Given the description of an element on the screen output the (x, y) to click on. 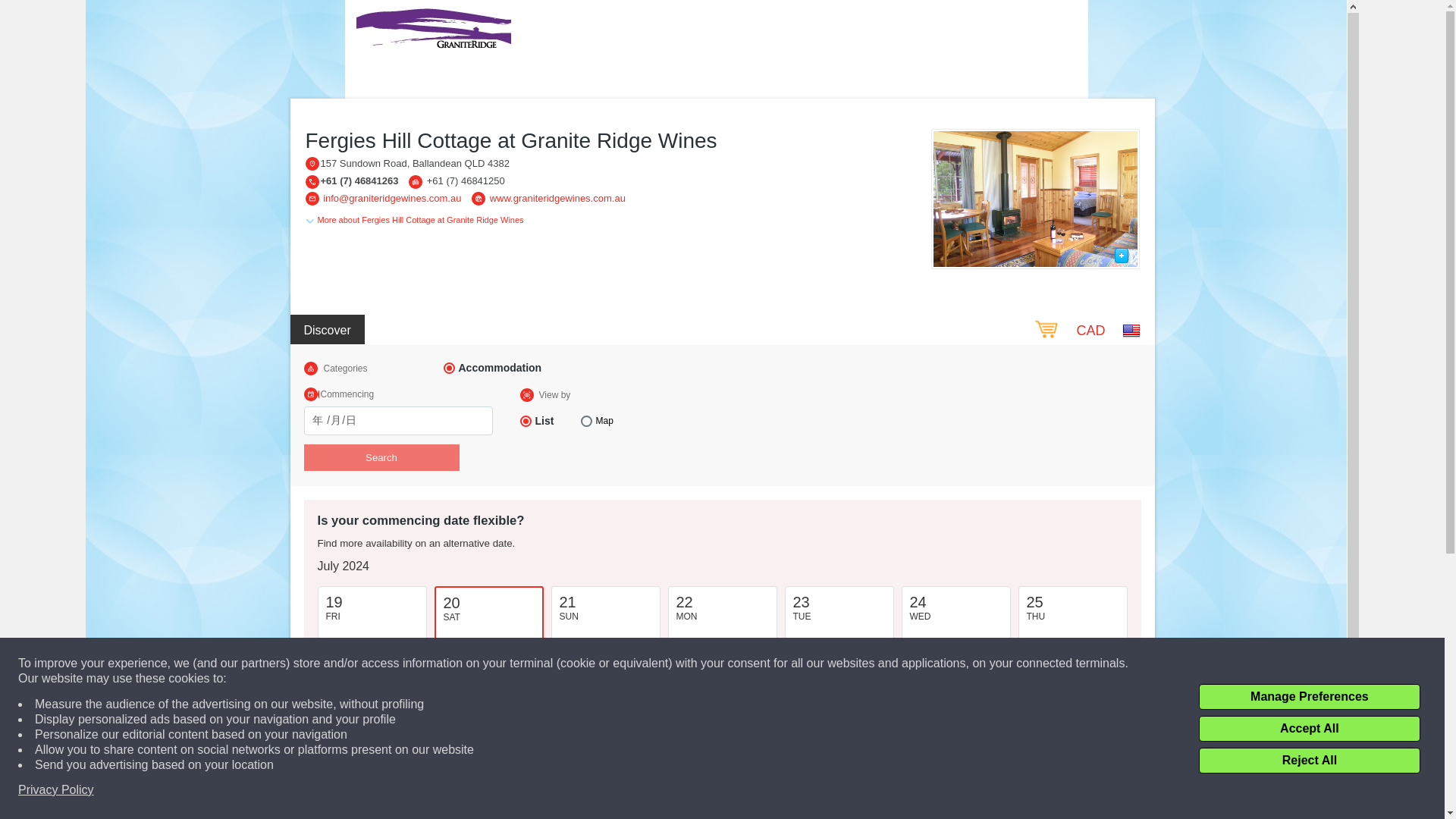
Fax (415, 182)
Email (311, 198)
Manage Preferences (1309, 696)
Reject All (1309, 760)
on (525, 420)
Privacy Policy (55, 789)
on (448, 367)
Accept All (1309, 728)
Address (311, 163)
Telephone (311, 182)
on (586, 420)
CAD (1090, 330)
www.graniteridgewines.com.au (557, 197)
Search (380, 457)
